Given the description of an element on the screen output the (x, y) to click on. 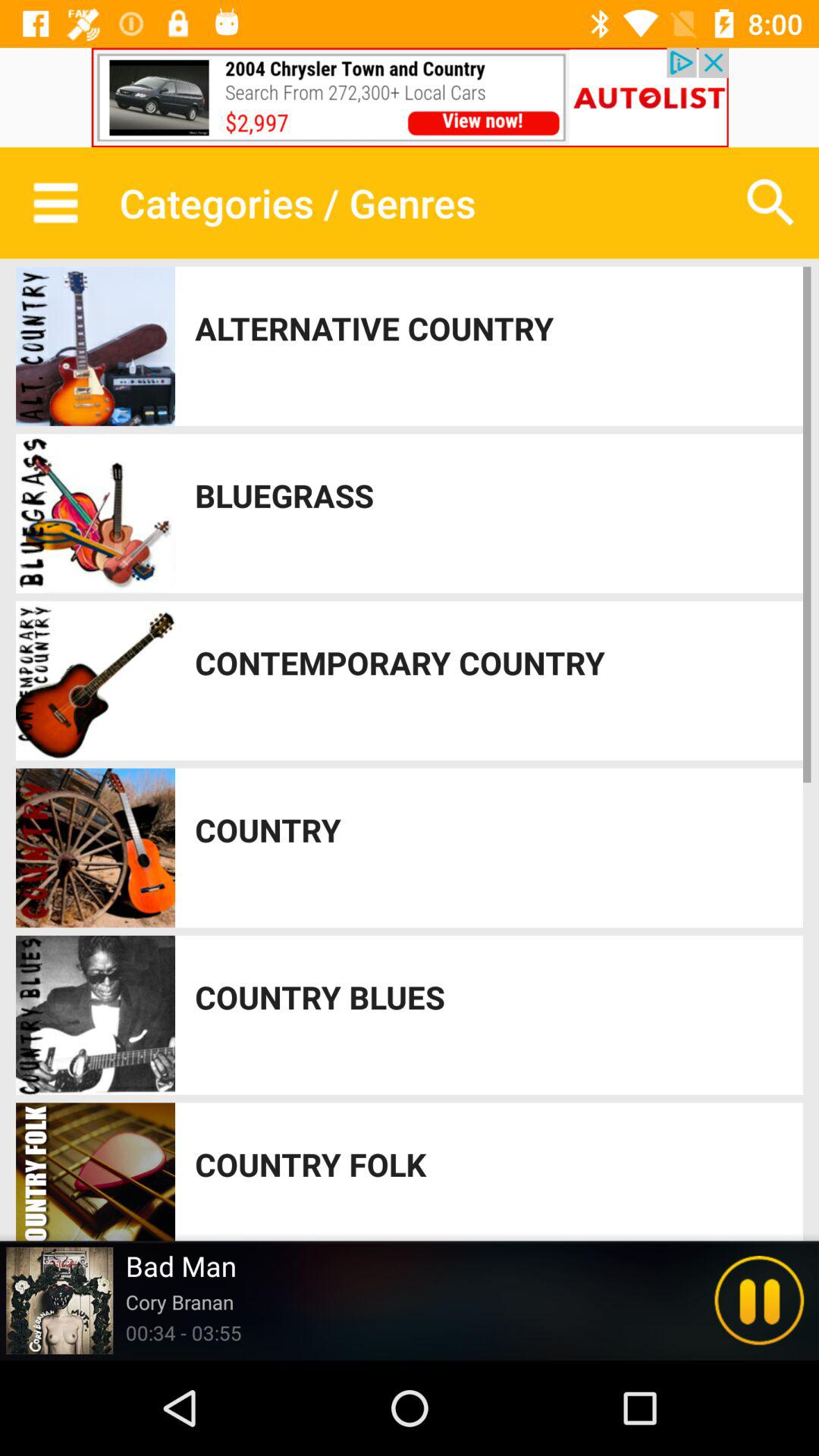
switch pause option (759, 1300)
